Given the description of an element on the screen output the (x, y) to click on. 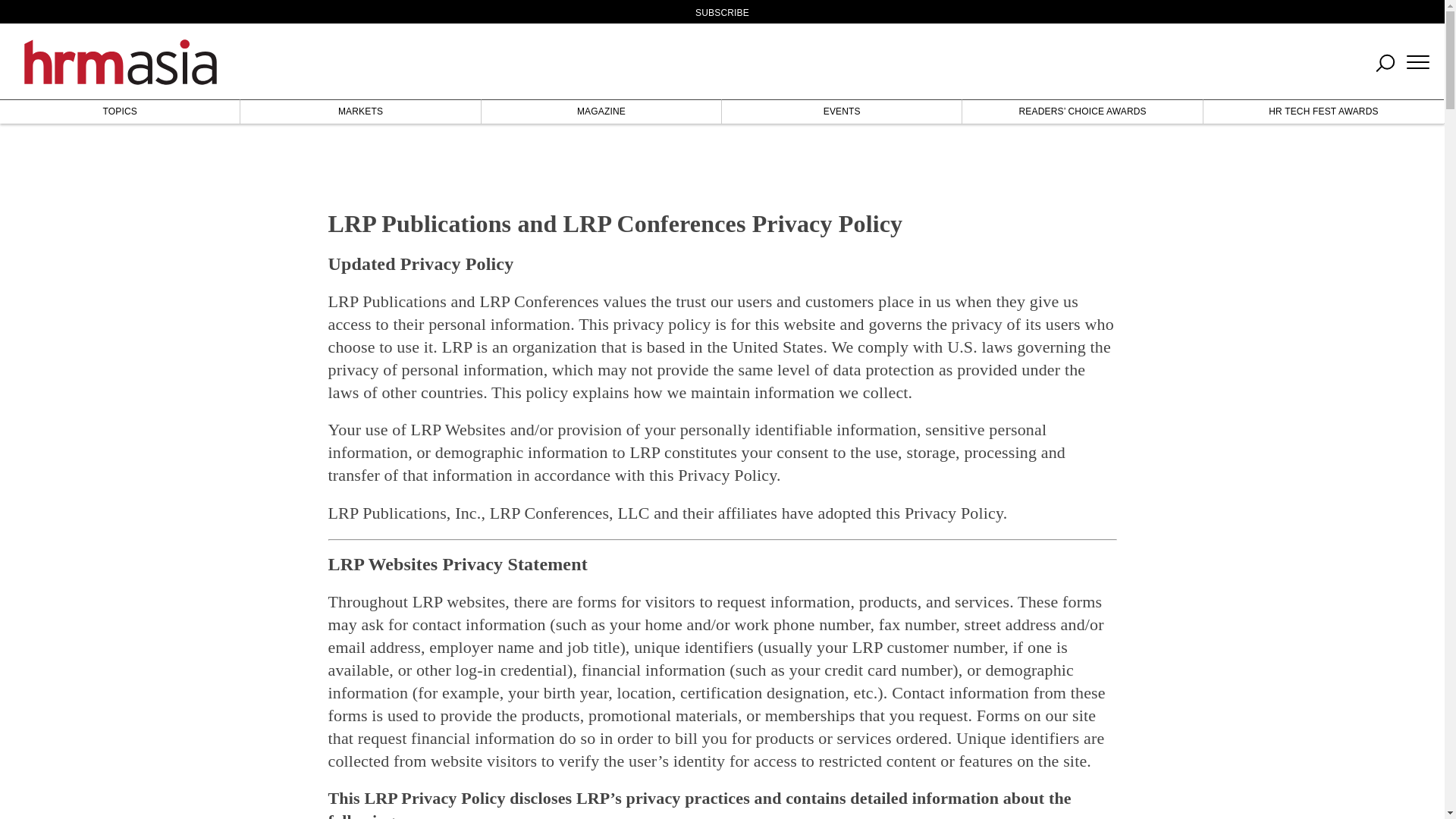
TOPICS (120, 111)
MARKETS (360, 111)
SUBSCRIBE (722, 11)
EVENTS (841, 111)
HR TECH FEST AWARDS (1324, 111)
MAGAZINE (600, 111)
